Given the description of an element on the screen output the (x, y) to click on. 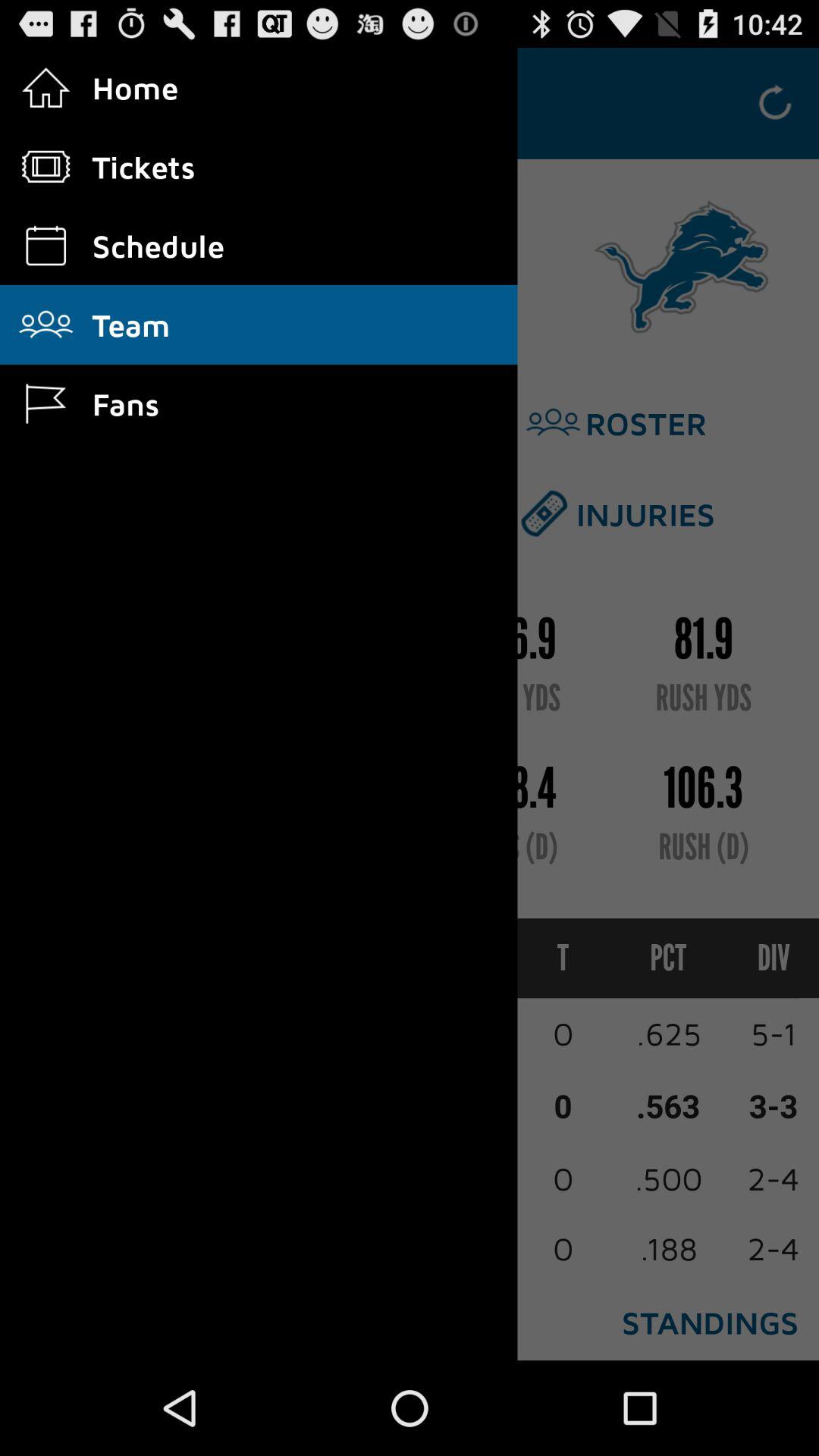
click on bandage icon (544, 512)
click on div (760, 957)
